Given the description of an element on the screen output the (x, y) to click on. 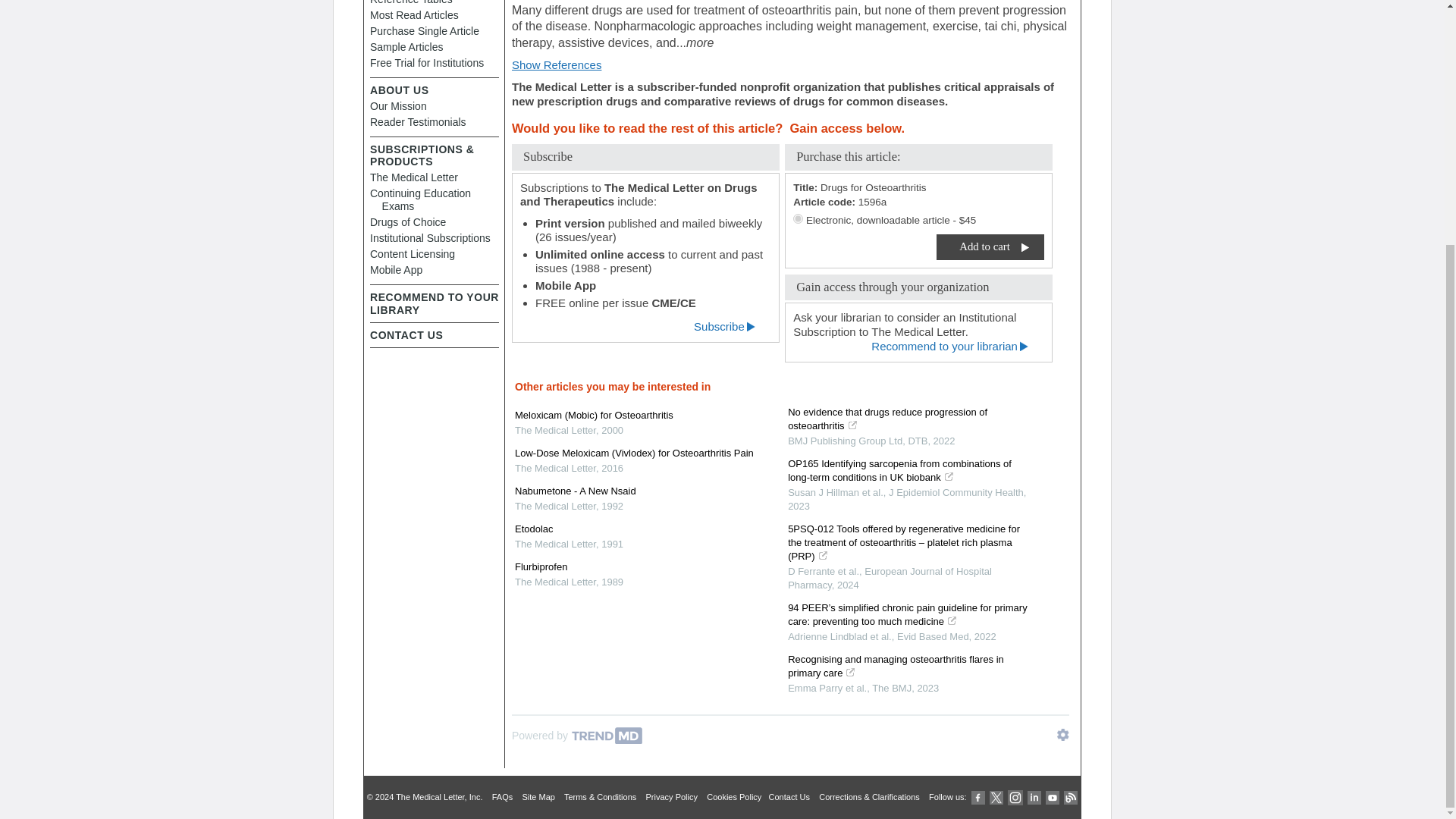
electronic (798, 218)
Show References (556, 64)
